Given the description of an element on the screen output the (x, y) to click on. 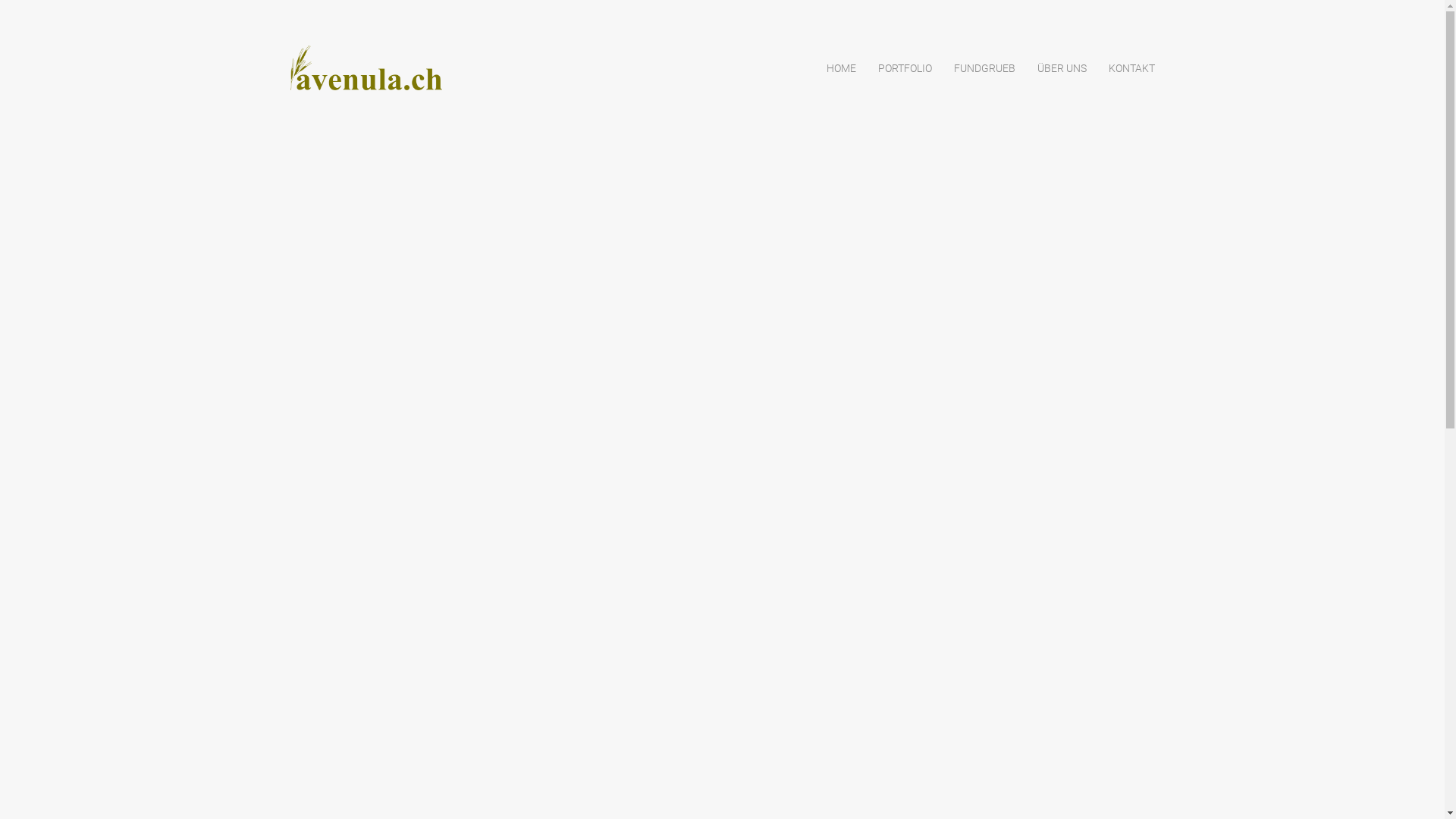
10-unterhalt-12 Element type: text (992, 288)
Oktober 2018 Element type: text (988, 496)
Gartenbau Element type: text (981, 683)
Gartenplanung Element type: text (991, 702)
10_holz_20 Element type: text (983, 229)
Oktober 2022 Element type: text (988, 437)
Dezember 2017 Element type: text (994, 516)
Post Comment Element type: text (337, 594)
Suche Element type: text (1113, 125)
Natursteinarbeiten Element type: text (1002, 801)
Metallarbeiten Element type: text (991, 781)
KONTAKT Element type: text (1131, 68)
Baumverpflanzungen Element type: text (1007, 663)
FUNDGRUEB Element type: text (984, 68)
Januar 2019 Element type: text (985, 476)
HOME Element type: text (841, 68)
Mai 2017 Element type: text (978, 555)
10-unterhalt-13 Element type: text (992, 269)
10_naturstein_23 Element type: text (998, 209)
PORTFOLIO Element type: text (904, 68)
Gartenunterhalt Element type: text (994, 742)
August 2017 Element type: text (986, 535)
Holzarbeiten Element type: text (987, 761)
Gartentreppen Element type: text (990, 722)
April 2020 Element type: text (980, 457)
10-unterhalt-14 Element type: text (992, 249)
